Given the description of an element on the screen output the (x, y) to click on. 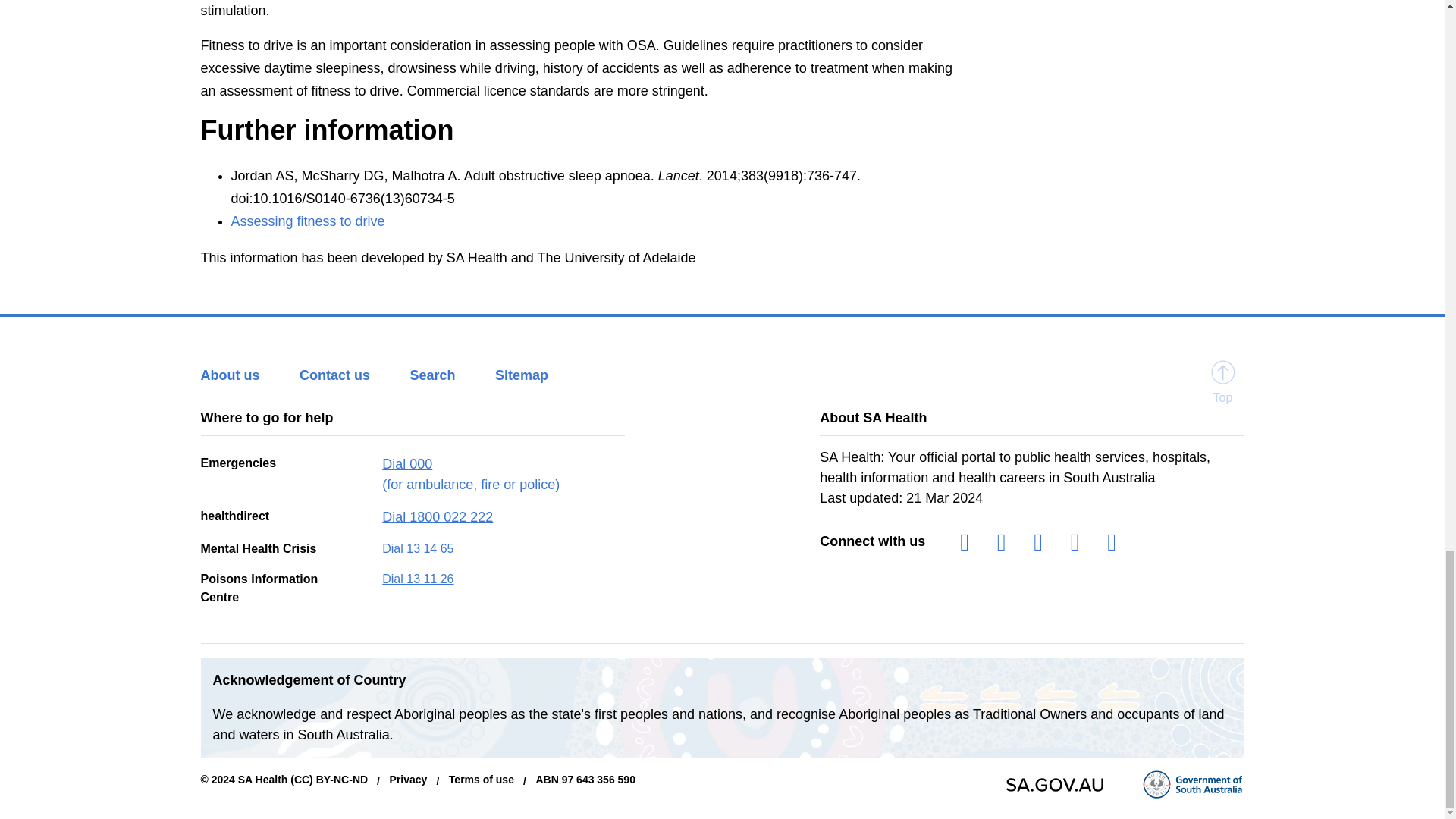
Assessing fitness to drive (307, 221)
About Us (246, 375)
Contact Us (351, 375)
